Given the description of an element on the screen output the (x, y) to click on. 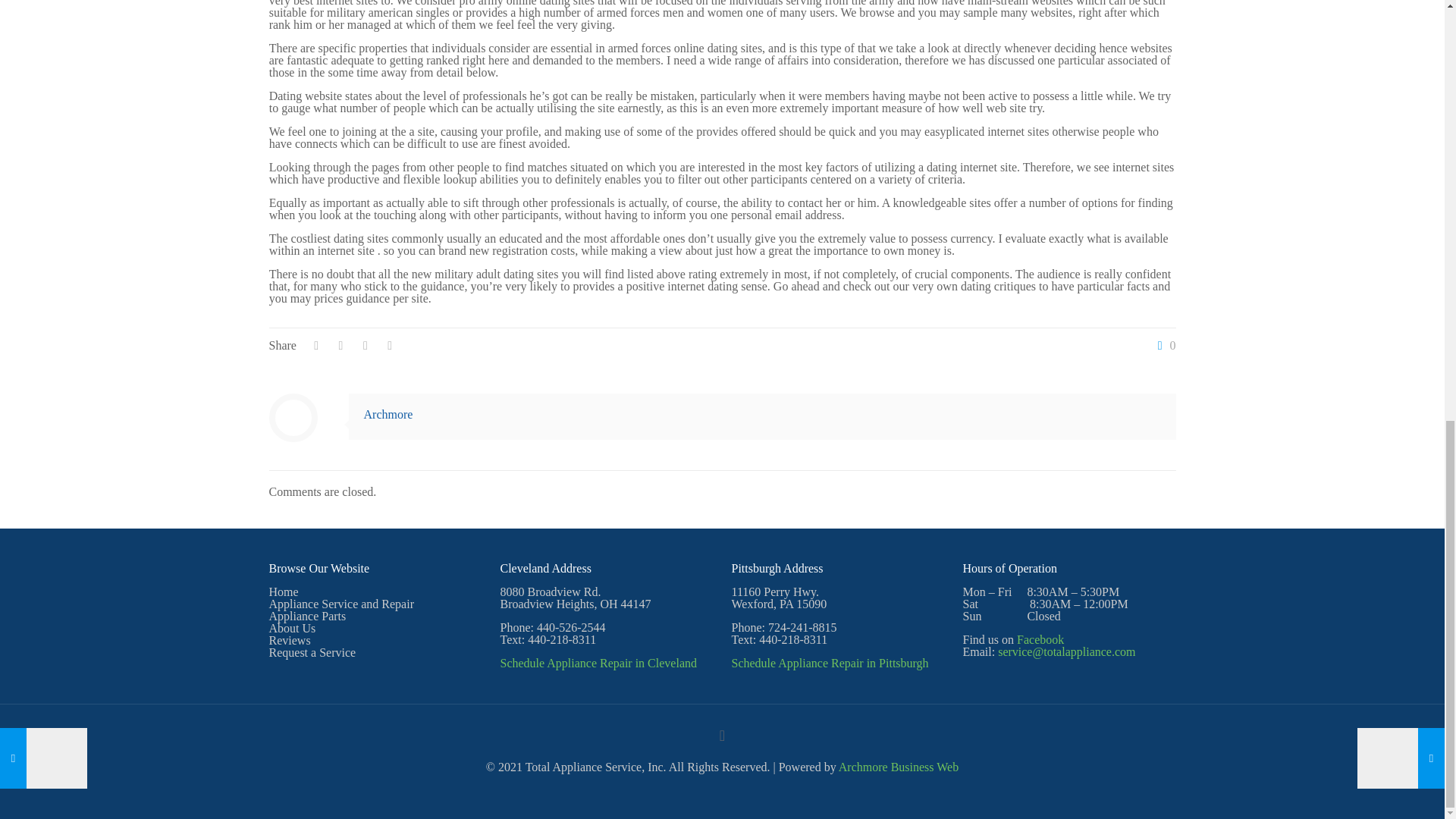
Schedule Appliance Repair in Cleveland (598, 662)
0 (1162, 345)
Archmore Business Web (898, 766)
Facebook (1040, 639)
Archmore (388, 413)
Schedule Appliance Repair in Pittsburgh (829, 662)
